Given the description of an element on the screen output the (x, y) to click on. 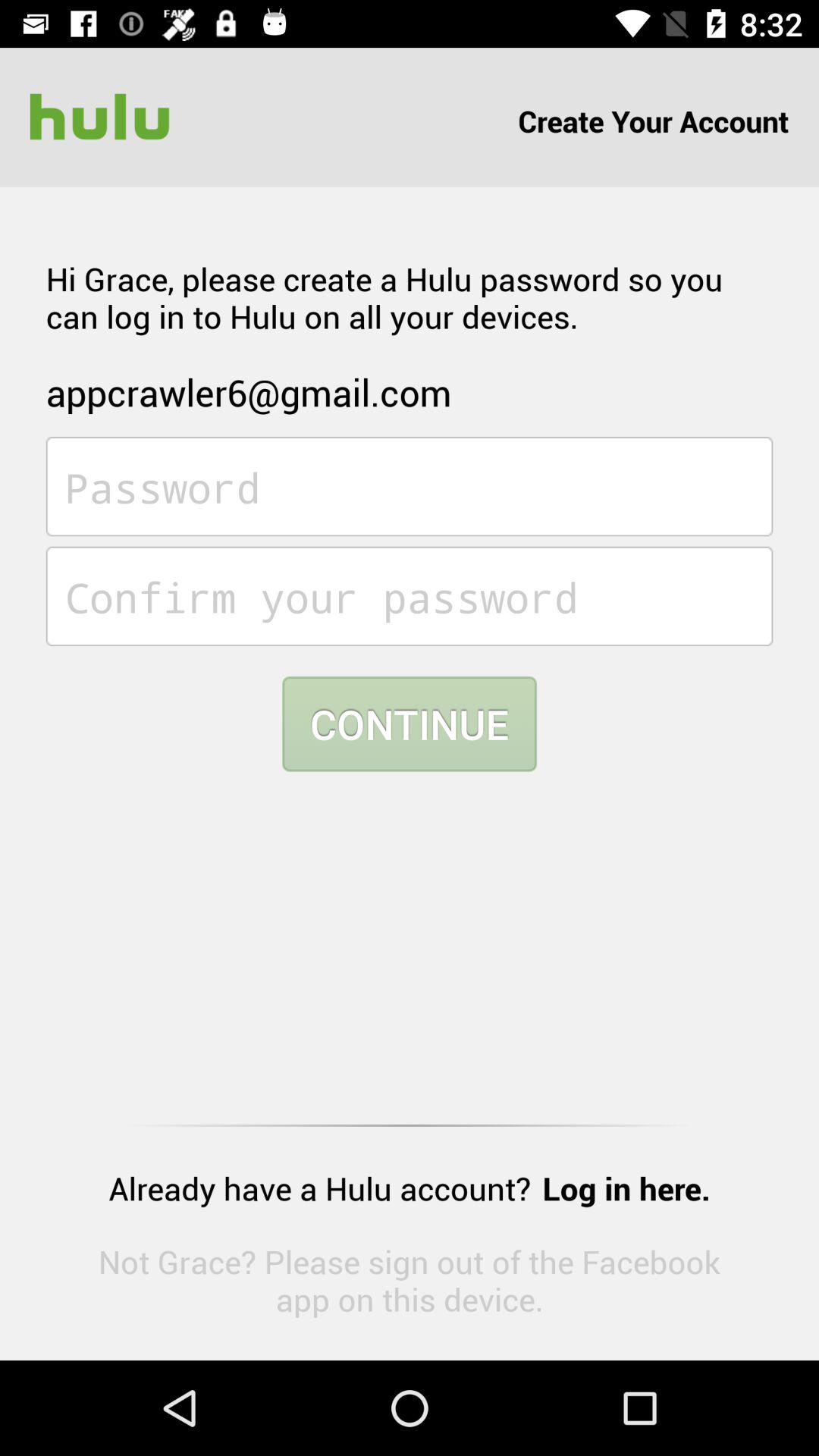
re write password exactly as before (409, 596)
